Given the description of an element on the screen output the (x, y) to click on. 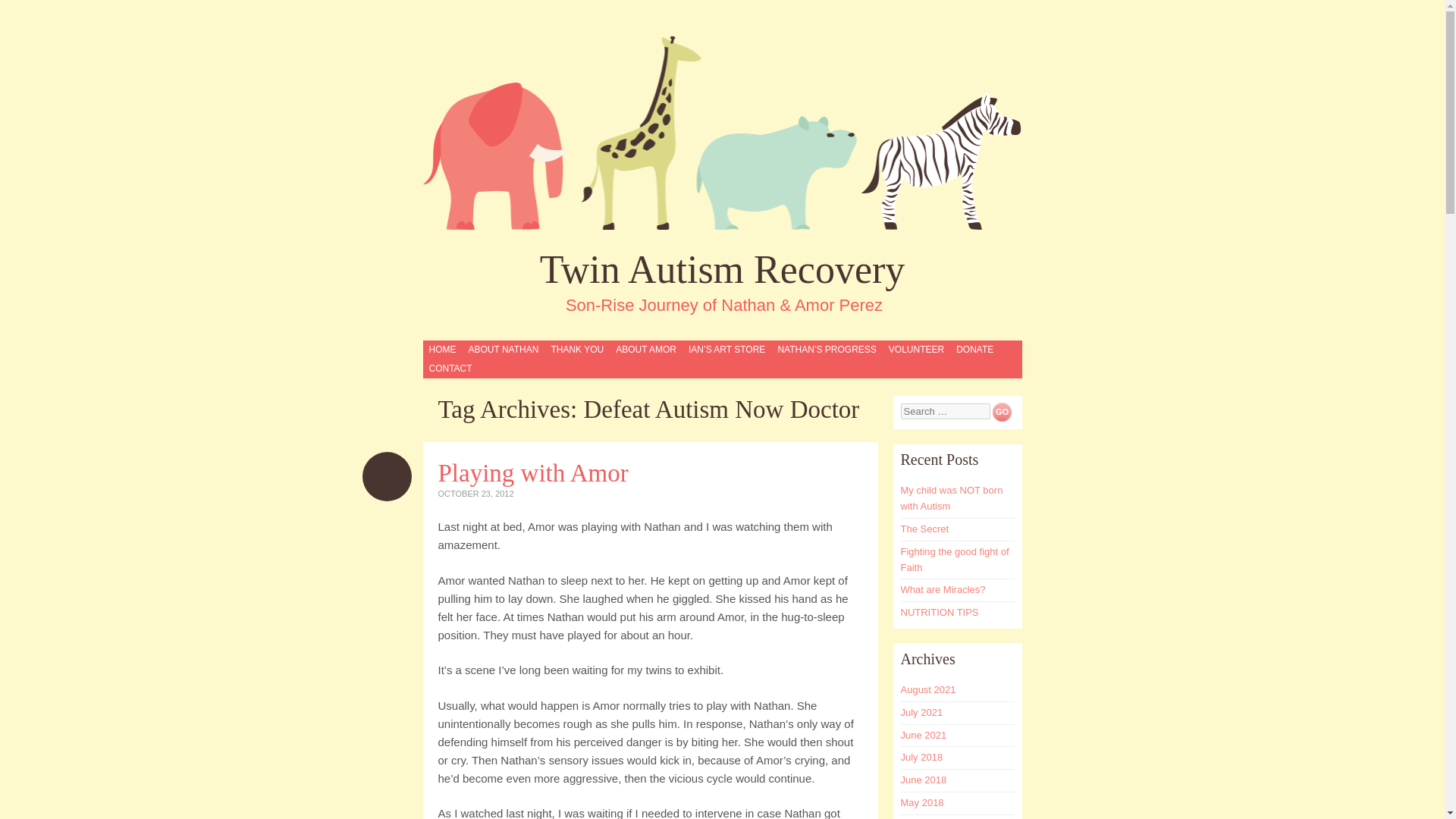
VOLUNTEER (916, 349)
5:38 am (475, 492)
May 2018 (922, 802)
August 2021 (928, 689)
ABOUT AMOR (645, 349)
June 2018 (924, 779)
Fighting the good fight of Faith (955, 559)
Twin Autism Recovery (722, 132)
CONTACT (450, 368)
ABOUT NATHAN (502, 349)
DONATE (974, 349)
THANK YOU (577, 349)
My child was NOT born with Autism (952, 497)
Twin Autism Recovery (722, 269)
What are Miracles? (943, 589)
